Given the description of an element on the screen output the (x, y) to click on. 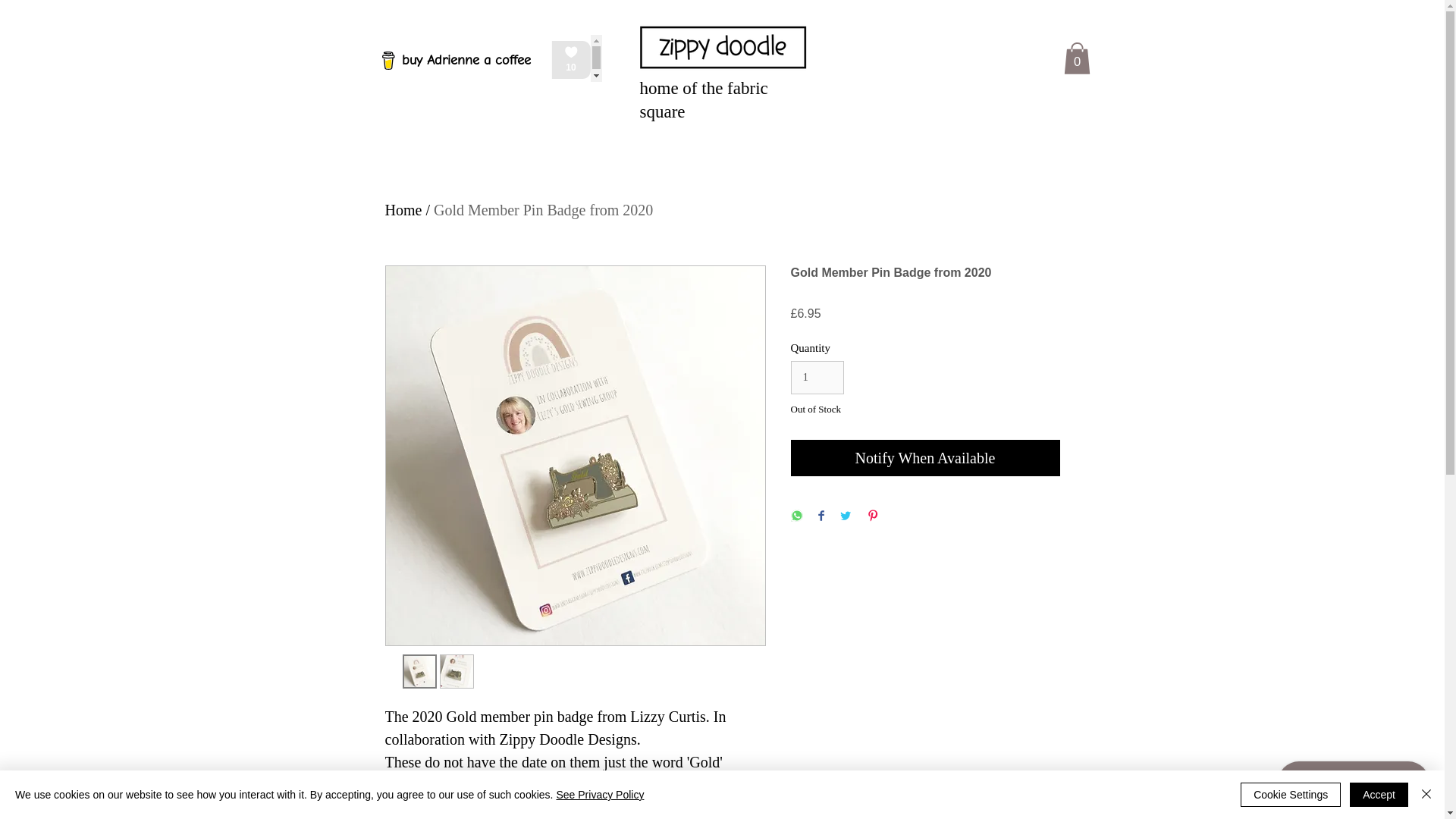
Cookie Settings (1290, 794)
Gold Member Pin Badge from 2020 (542, 209)
Embedded Content (483, 58)
See Privacy Policy (599, 794)
Home (403, 209)
Accept (1378, 794)
1 (817, 377)
Notify When Available (924, 457)
